Given the description of an element on the screen output the (x, y) to click on. 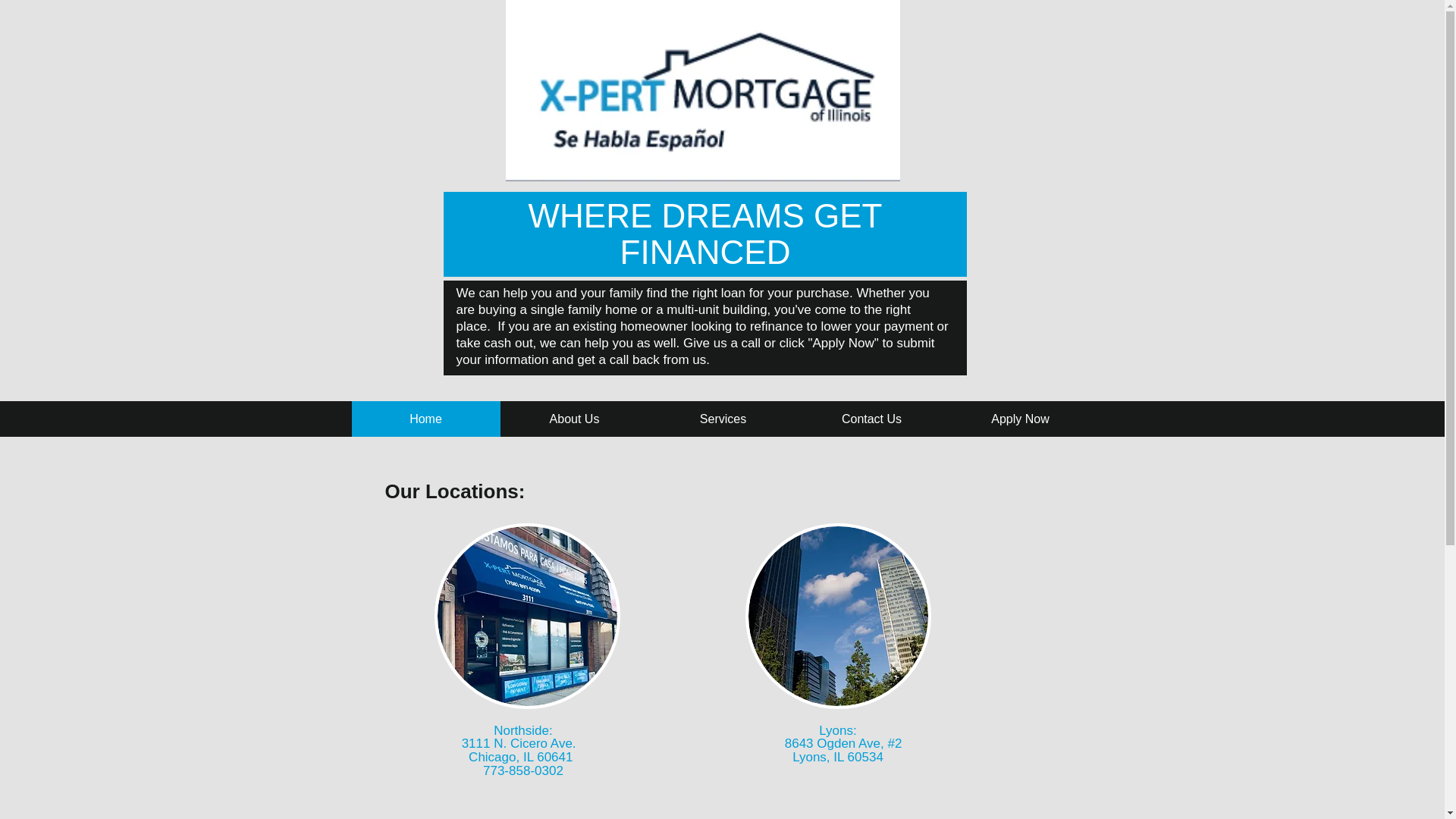
Home (426, 418)
Services (723, 418)
Contact Us (871, 418)
About Us (574, 418)
Apply Now (1020, 418)
